Given the description of an element on the screen output the (x, y) to click on. 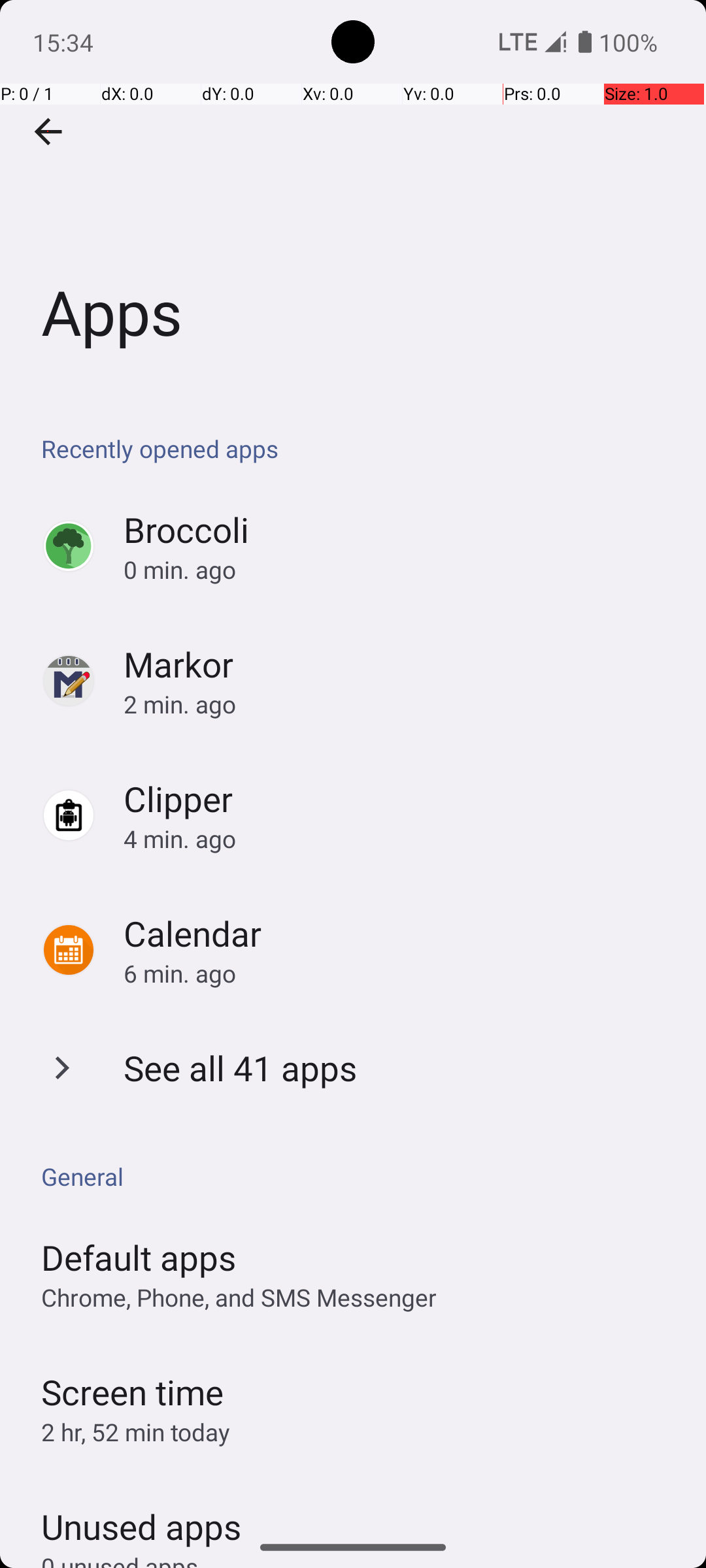
0 min. ago Element type: android.widget.TextView (400, 569)
Clipper Element type: android.widget.TextView (177, 798)
4 min. ago Element type: android.widget.TextView (400, 838)
6 min. ago Element type: android.widget.TextView (400, 972)
2 hr, 52 min today Element type: android.widget.TextView (135, 1431)
